Given the description of an element on the screen output the (x, y) to click on. 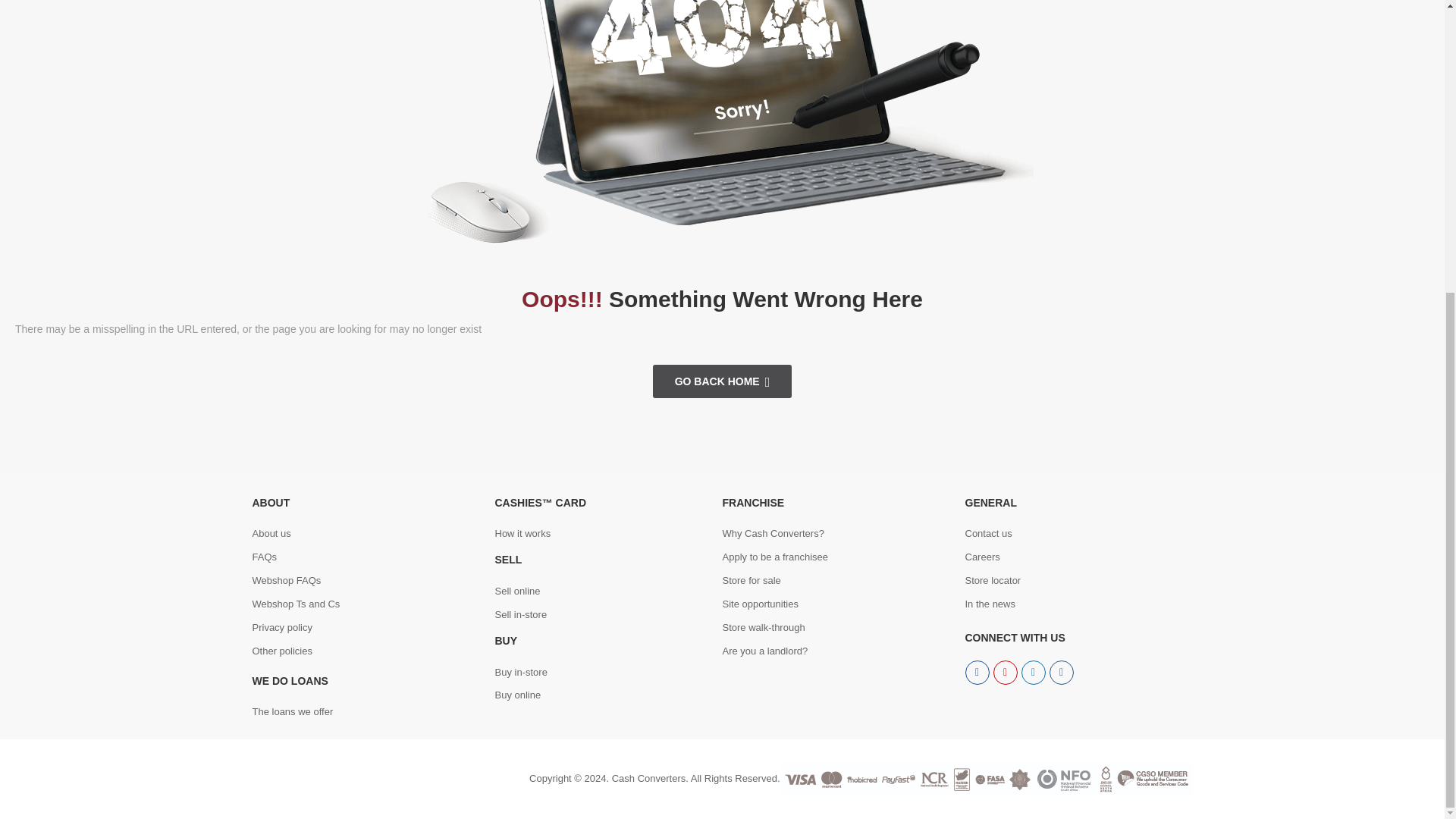
facebook (975, 672)
instagram (1004, 672)
youtube (1061, 672)
linkedin (1032, 672)
